Given the description of an element on the screen output the (x, y) to click on. 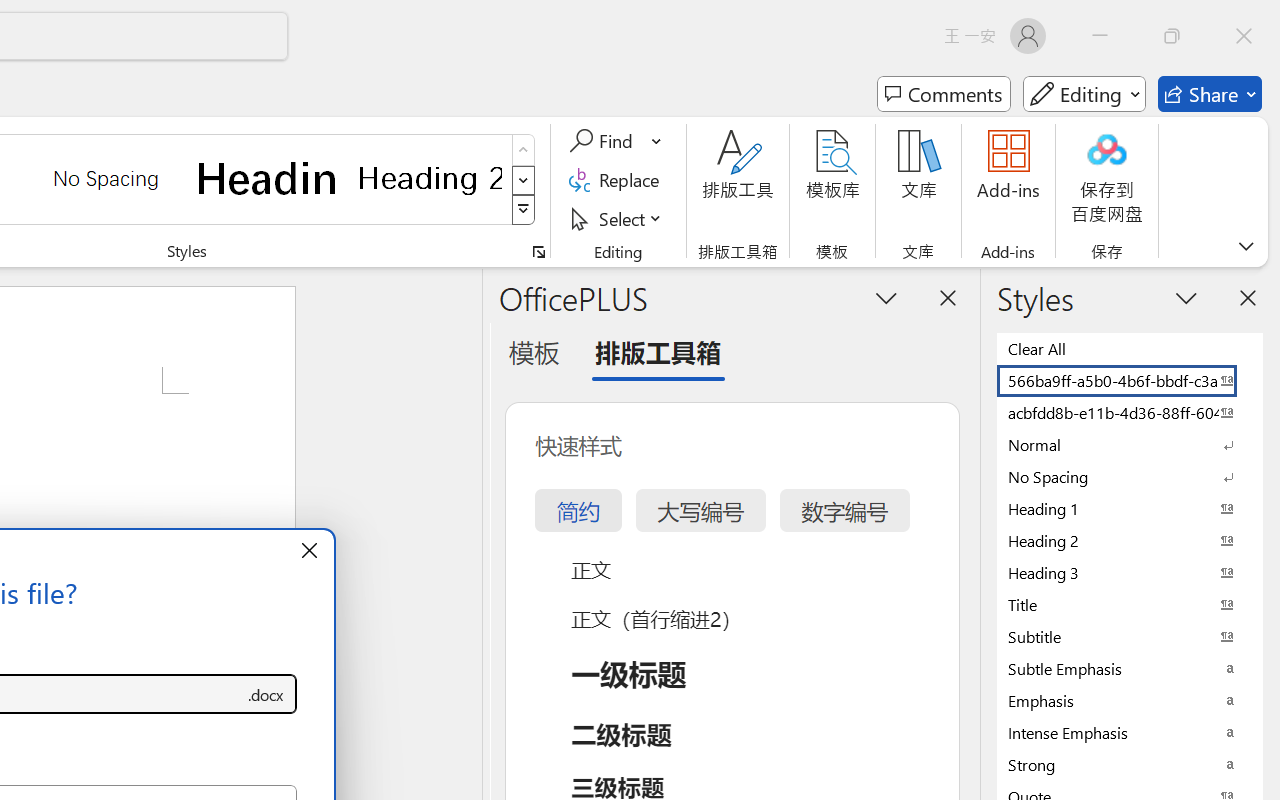
Subtle Emphasis (1130, 668)
Emphasis (1130, 700)
Heading 3 (1130, 572)
Find (604, 141)
Row Down (523, 180)
No Spacing (1130, 476)
Intense Emphasis (1130, 732)
